Given the description of an element on the screen output the (x, y) to click on. 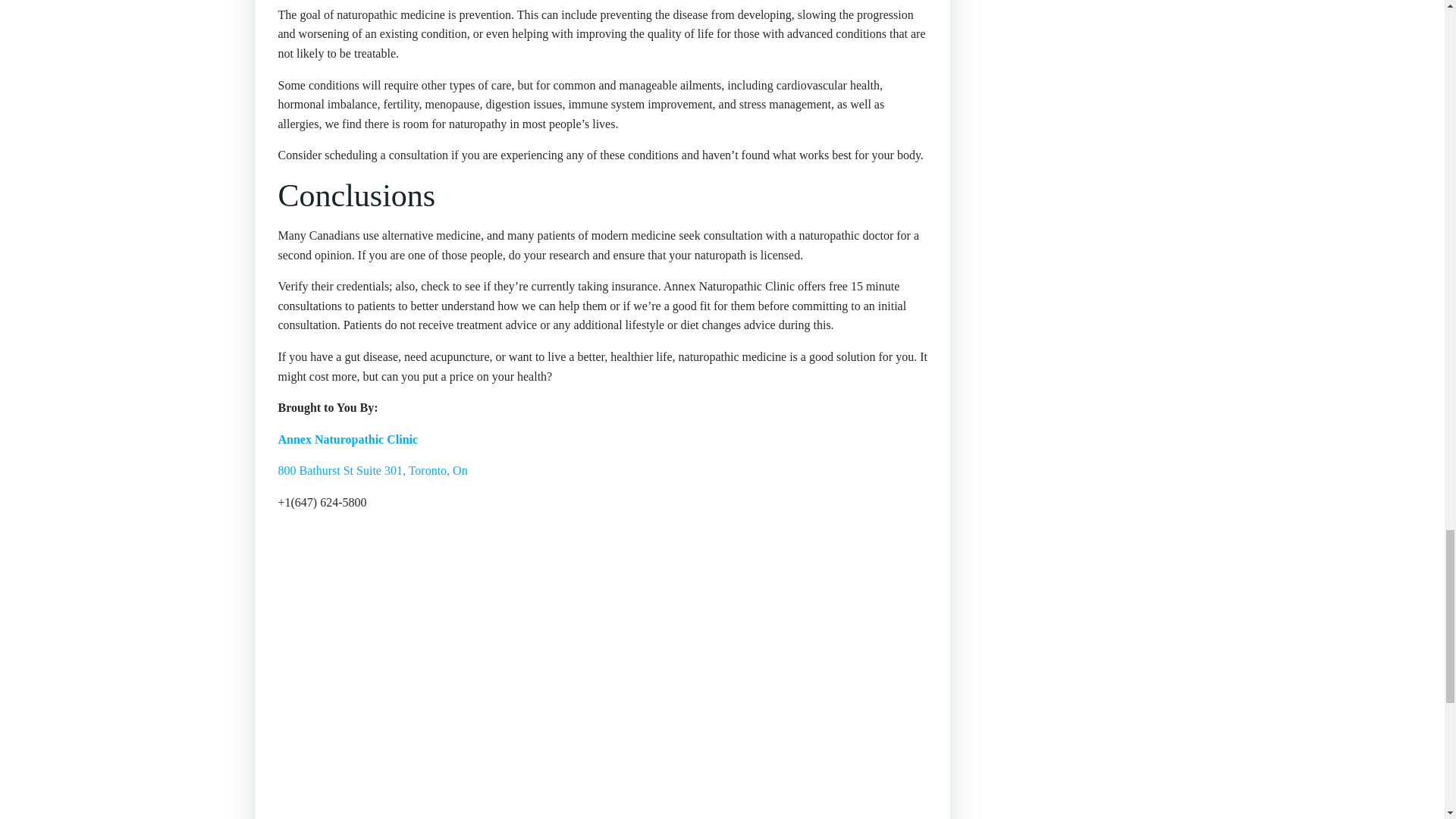
800 Bathurst St Suite 301, Toronto, On (372, 470)
Annex Naturopathic Clinic (347, 439)
